Given the description of an element on the screen output the (x, y) to click on. 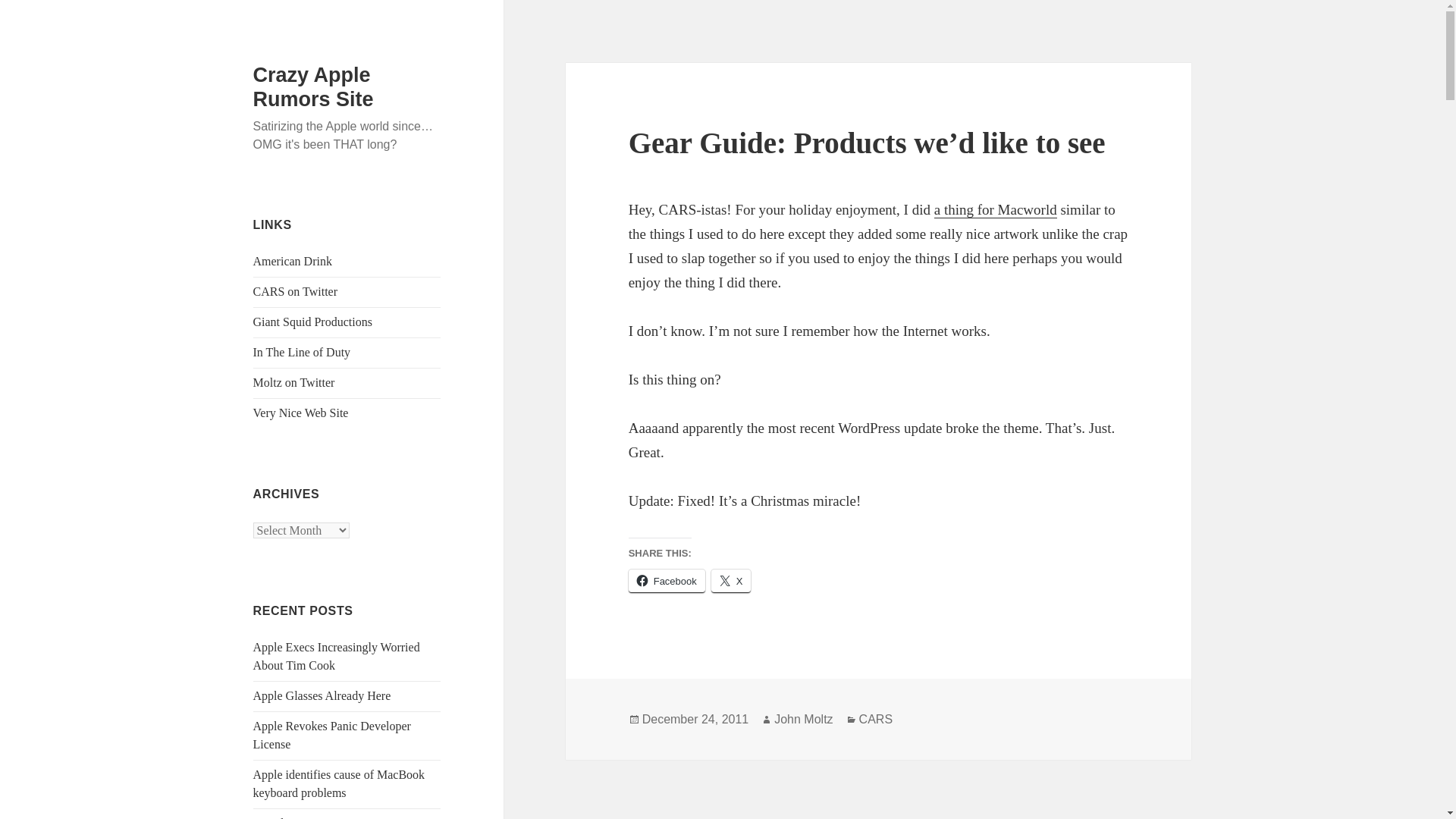
CARS (875, 719)
Share the magic (293, 382)
Facebook (666, 580)
The business of writing for pleasure (312, 321)
Updates and such (295, 291)
Crazy Apple Rumors Site (313, 86)
They died in the service of plot advancement (301, 351)
Other things I write (301, 412)
Apple Glasses Already Here (322, 695)
Apple identifies cause of MacBook keyboard problems (339, 783)
Bottoms up (292, 260)
Apple Revokes Panic Developer License (331, 735)
CARS on Twitter (295, 291)
Very Nice Web Site (301, 412)
Giant Squid Productions (312, 321)
